Given the description of an element on the screen output the (x, y) to click on. 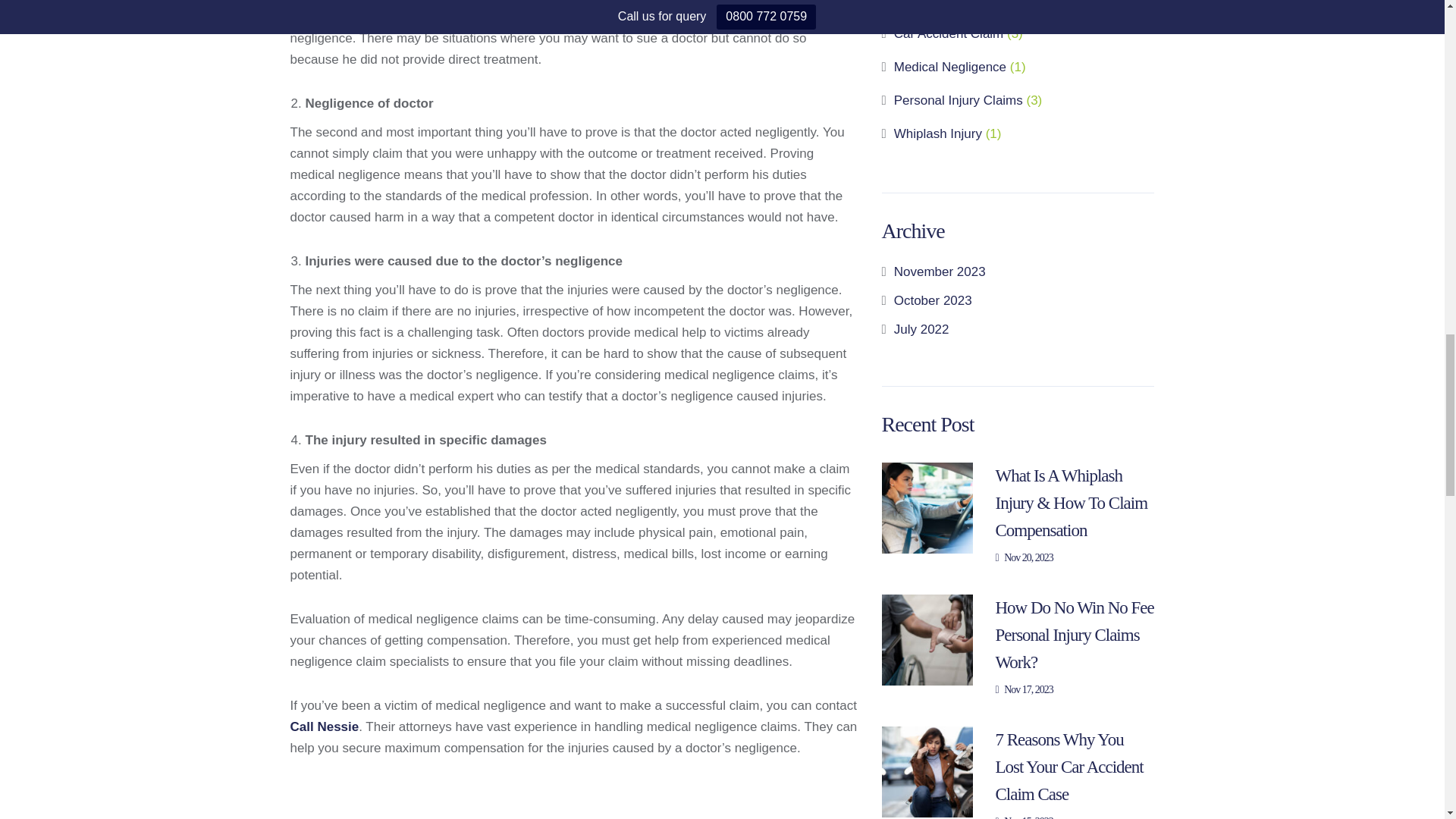
Call Nessie (323, 726)
Call Nessie (323, 726)
